Given the description of an element on the screen output the (x, y) to click on. 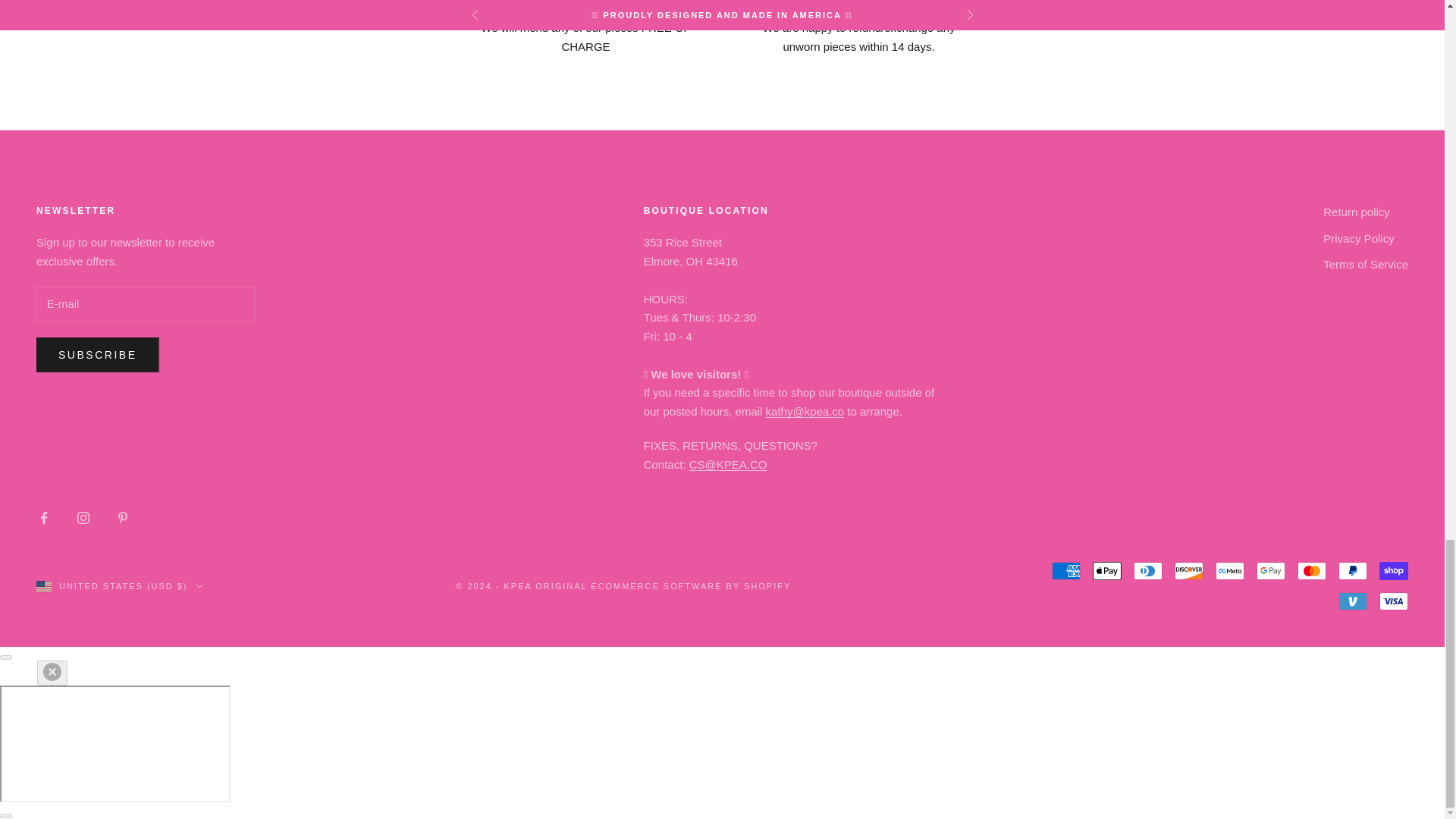
SUBSCRIBE (97, 354)
